Given the description of an element on the screen output the (x, y) to click on. 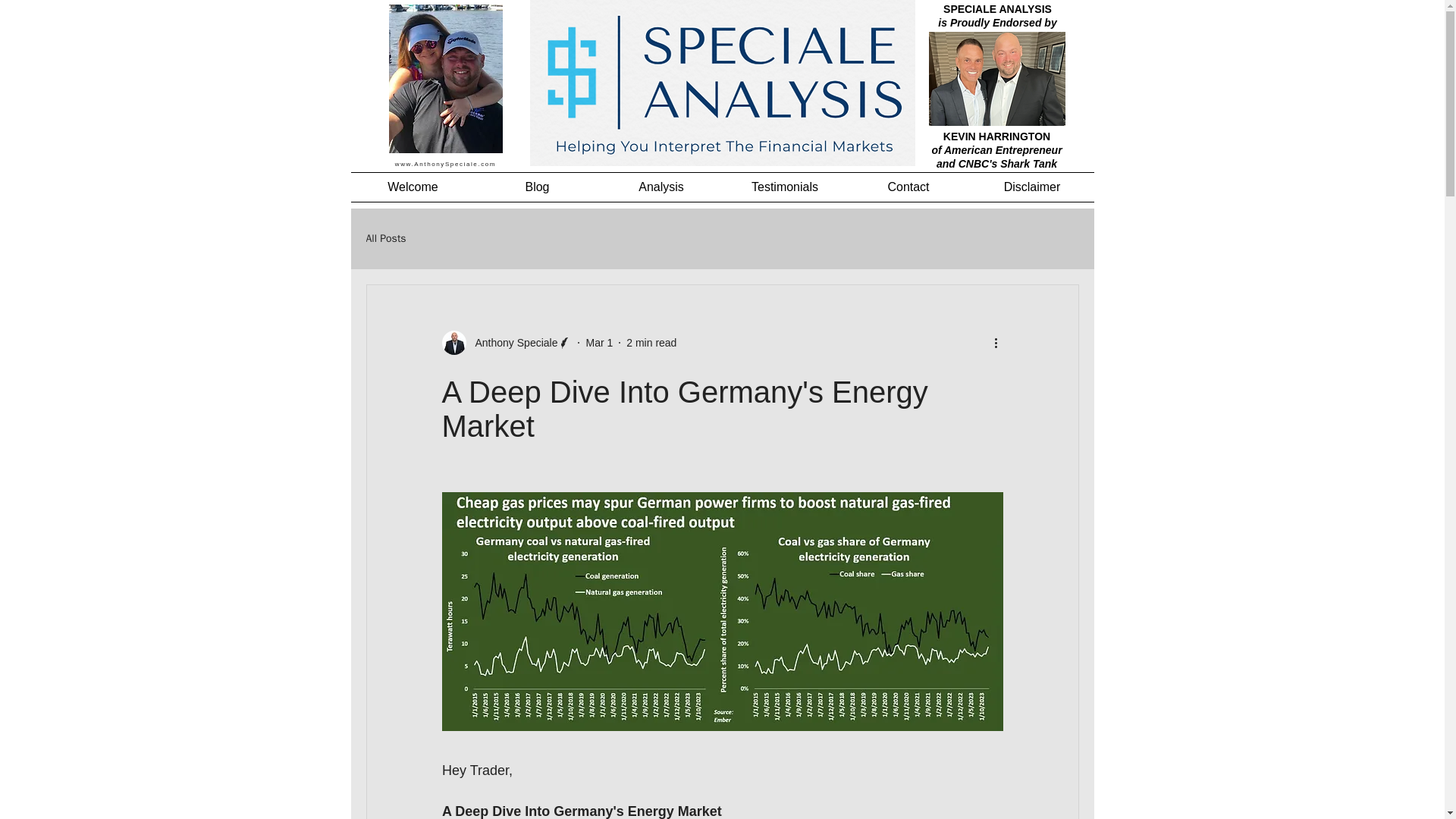
Contact (907, 186)
Mar 1 (598, 342)
Analysis (660, 186)
Welcome (412, 186)
Testimonials (785, 186)
Blog (536, 186)
Anthony Speciale (511, 342)
Disclaimer (1032, 186)
All Posts (385, 238)
www.AnthonySpeciale.com (445, 163)
Anthony Speciale (506, 342)
2 min read (651, 342)
